Given the description of an element on the screen output the (x, y) to click on. 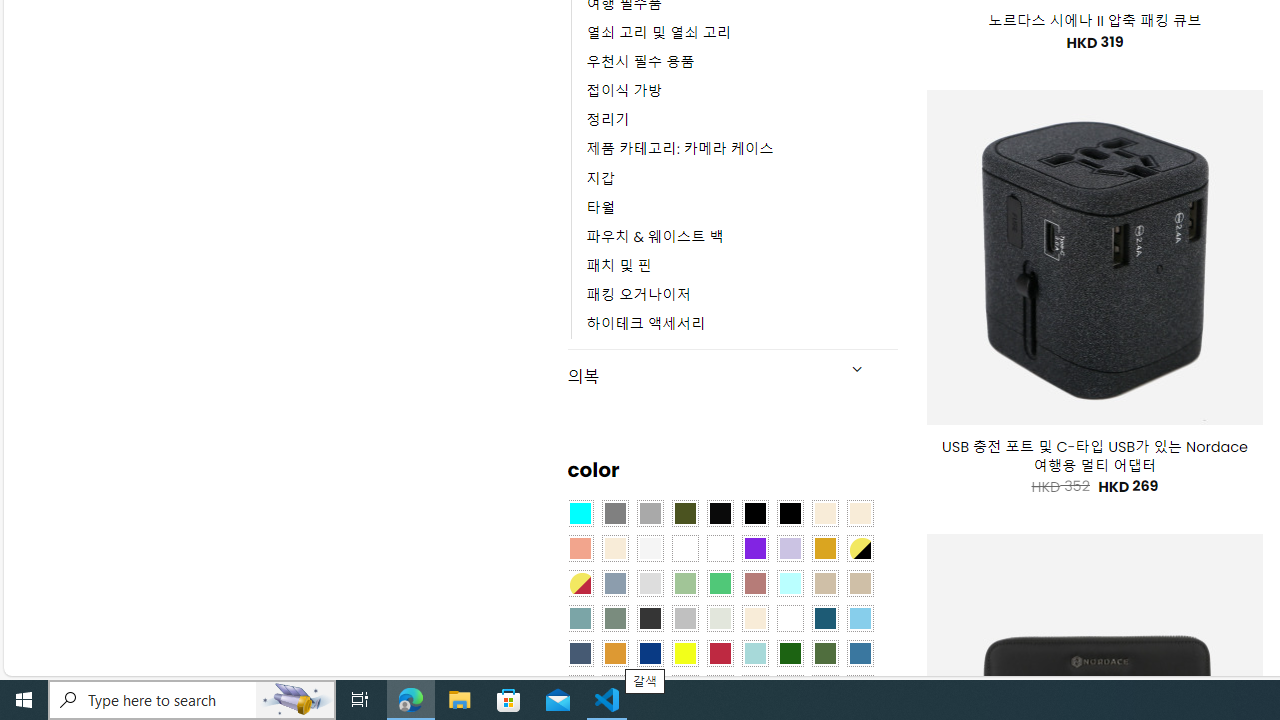
Kelp (719, 548)
Coral (579, 548)
